Given the description of an element on the screen output the (x, y) to click on. 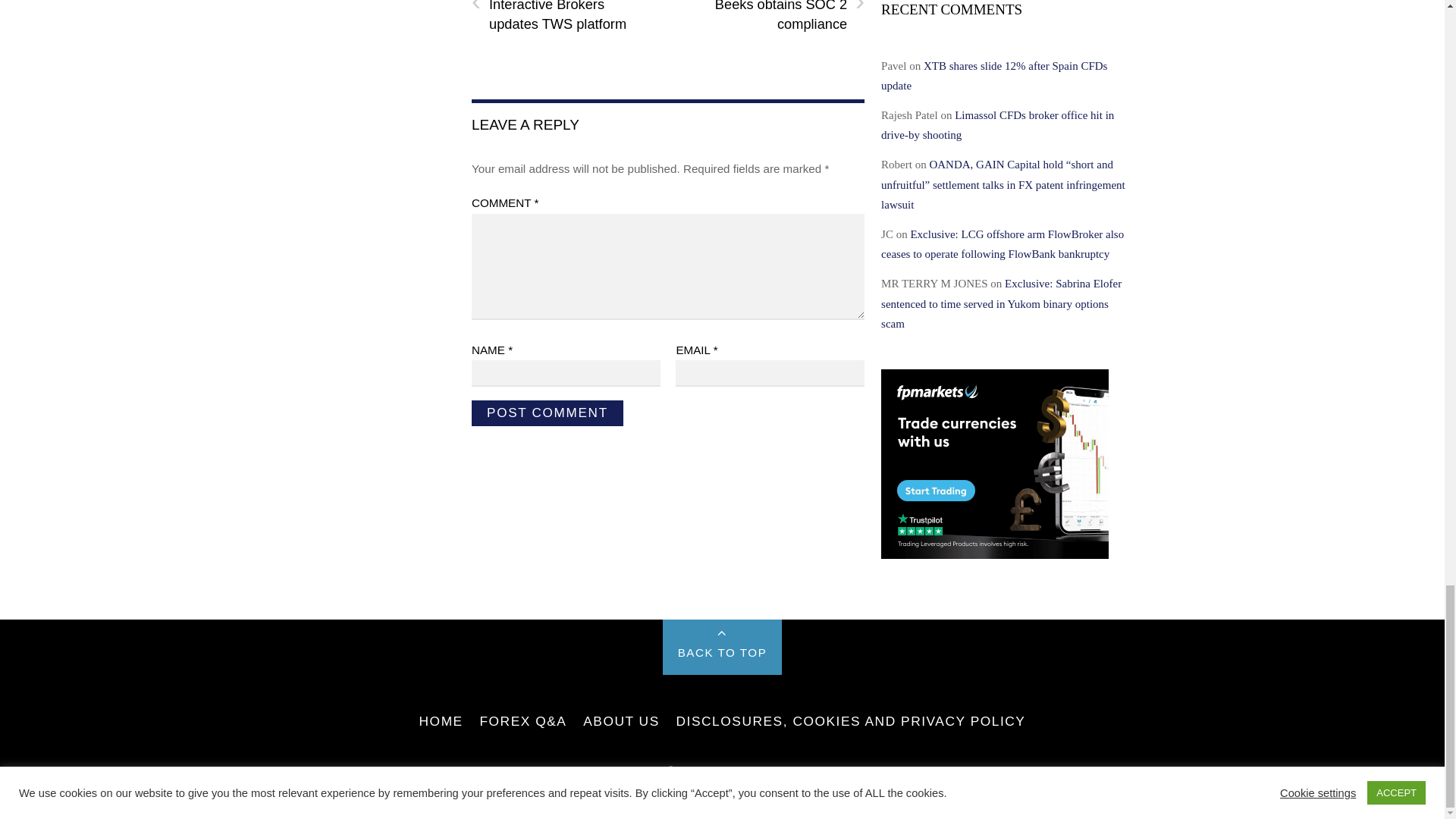
Post Comment (547, 412)
